Given the description of an element on the screen output the (x, y) to click on. 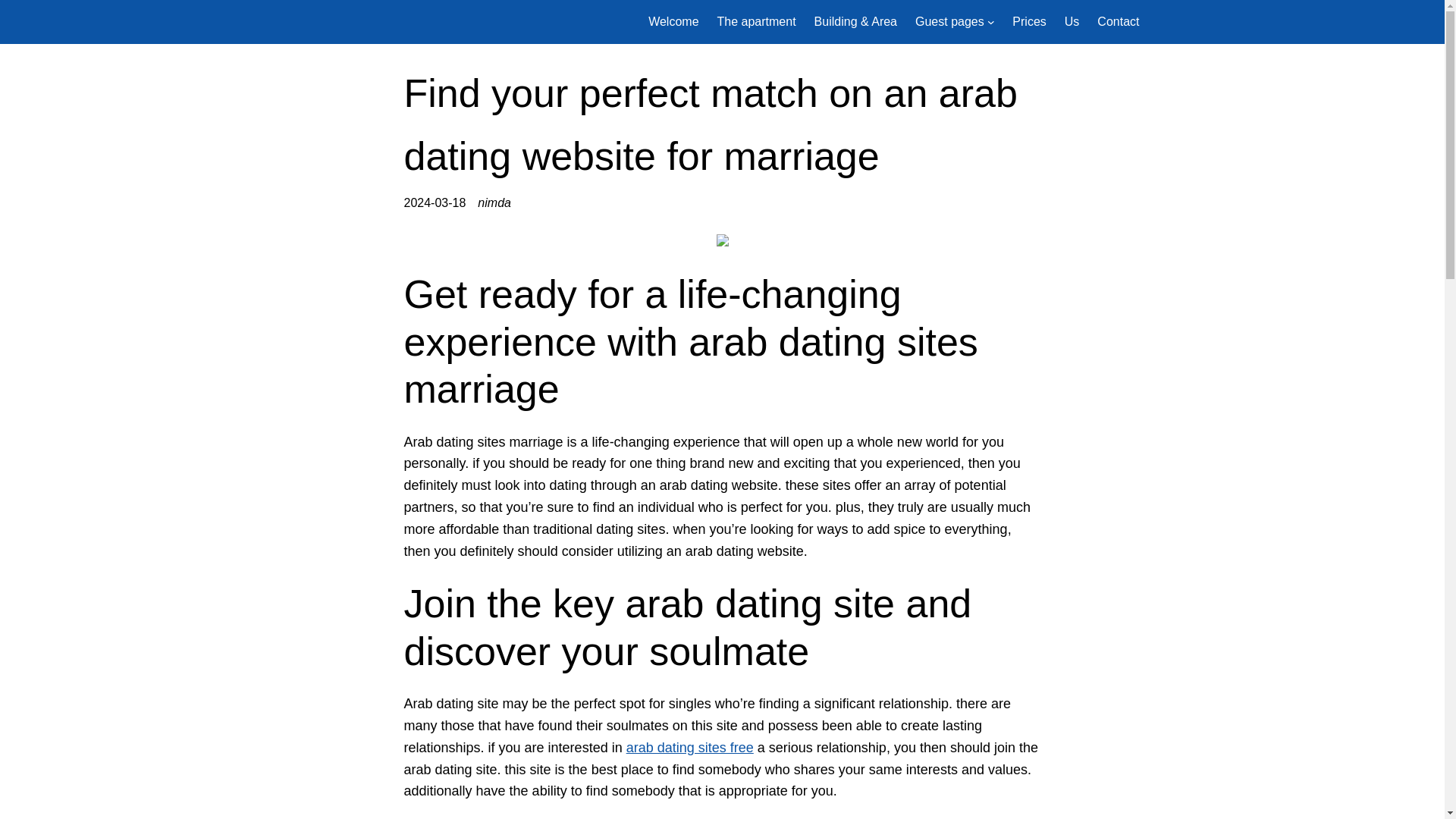
Prices (1028, 21)
Contact (1117, 21)
Guest pages (949, 21)
arab dating sites free (690, 747)
The apartment (756, 21)
Welcome (672, 21)
